Given the description of an element on the screen output the (x, y) to click on. 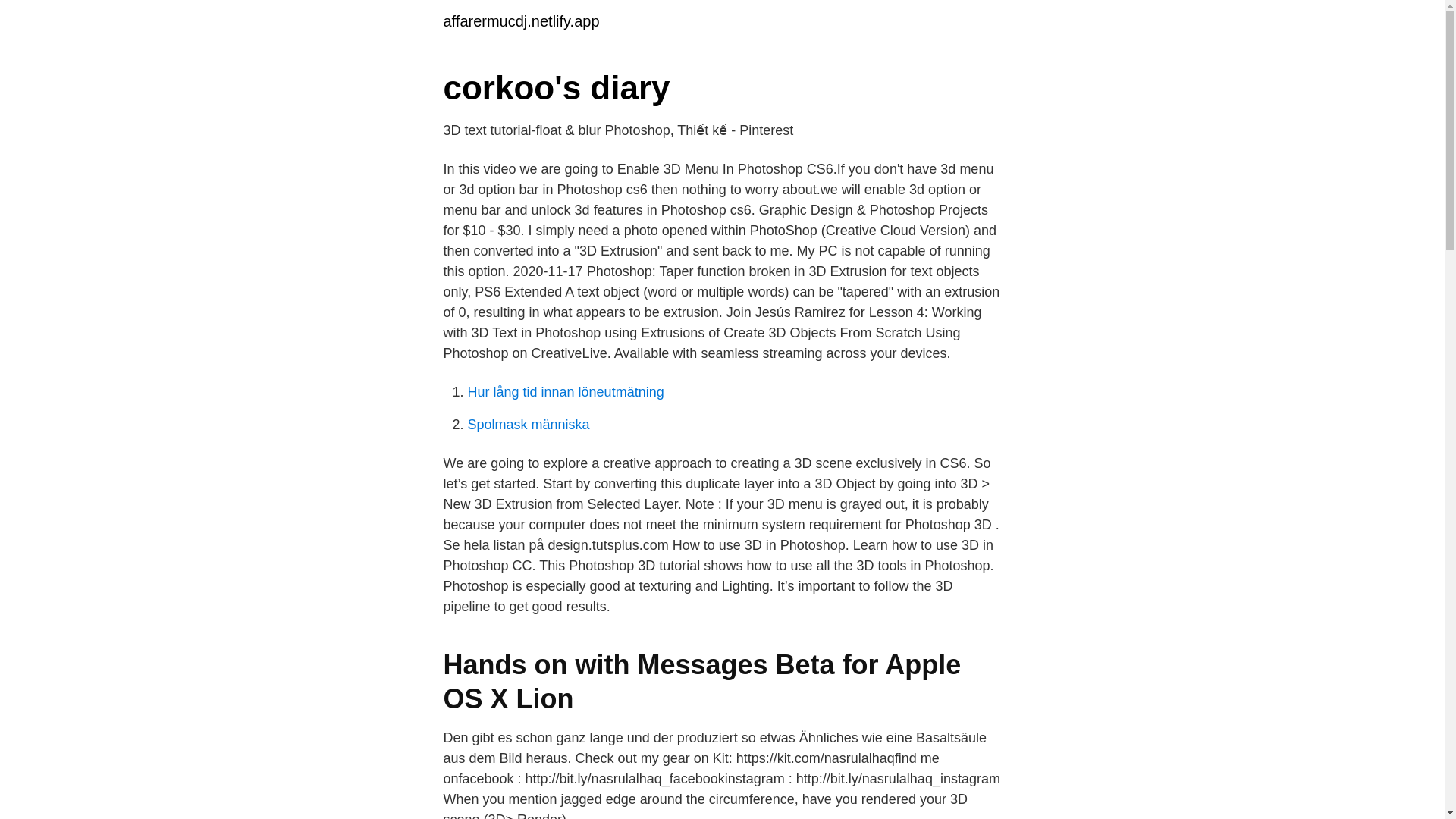
affarermucdj.netlify.app (520, 20)
